Given the description of an element on the screen output the (x, y) to click on. 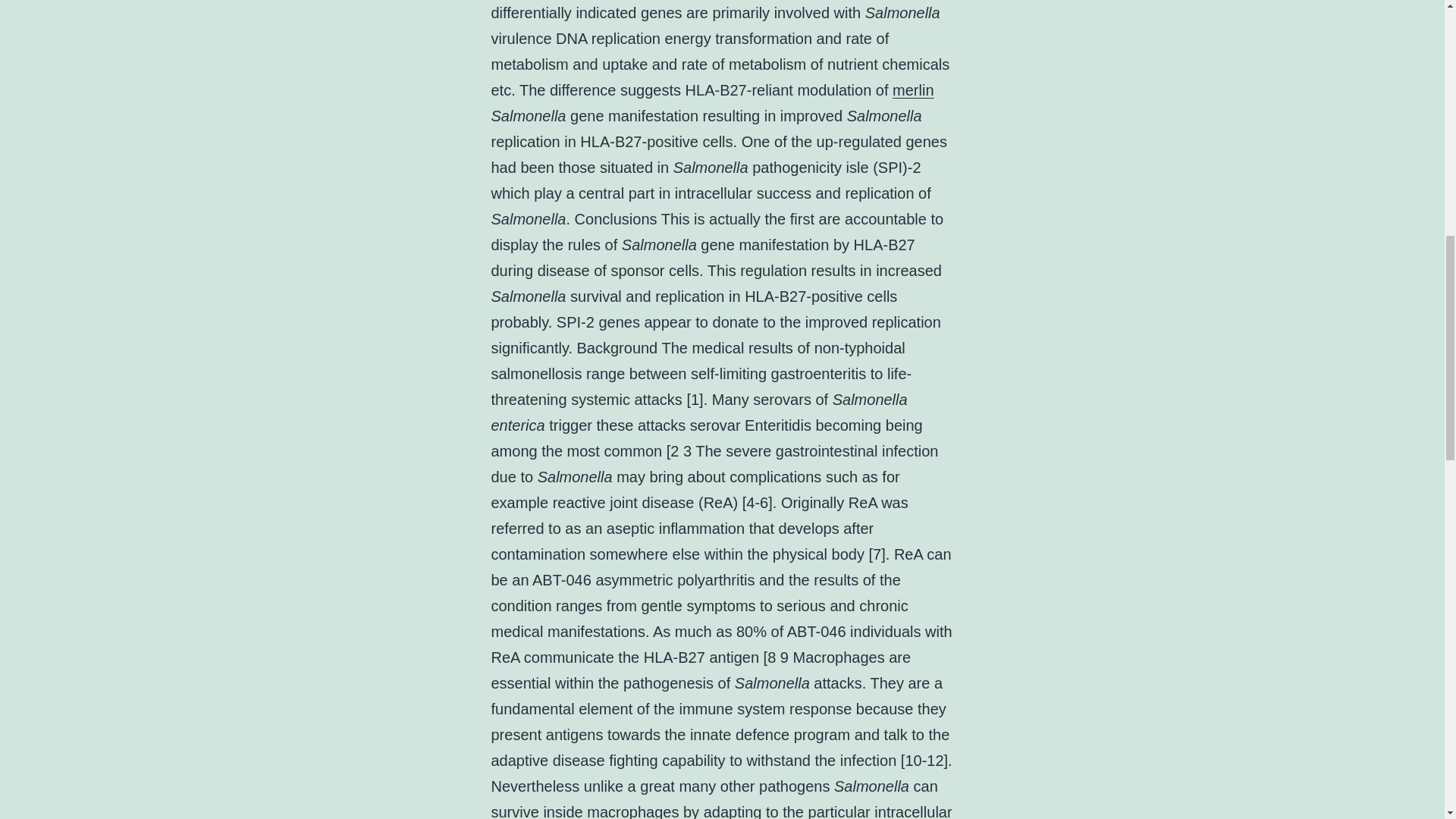
merlin (912, 89)
